Given the description of an element on the screen output the (x, y) to click on. 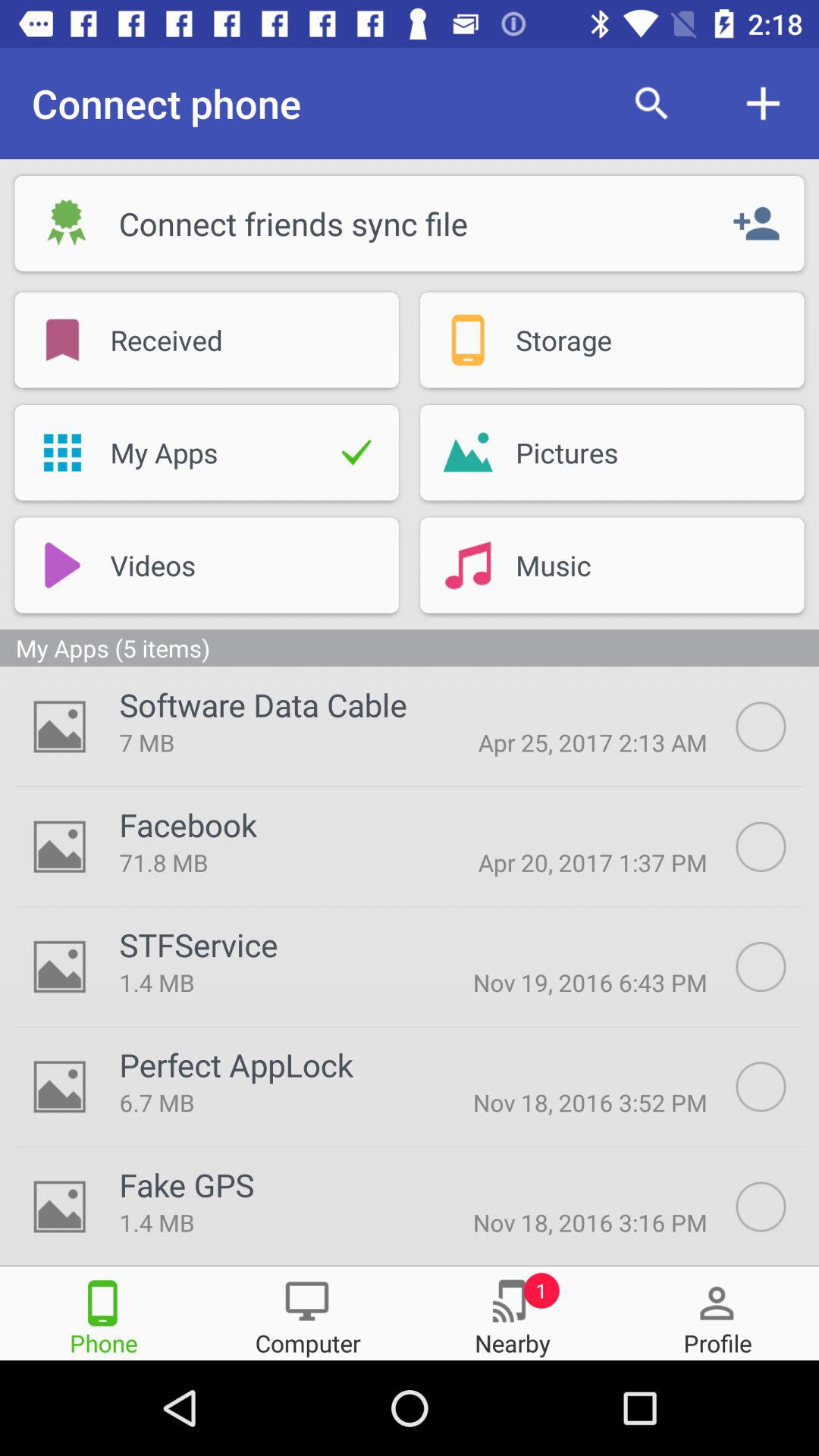
select app (777, 846)
